Given the description of an element on the screen output the (x, y) to click on. 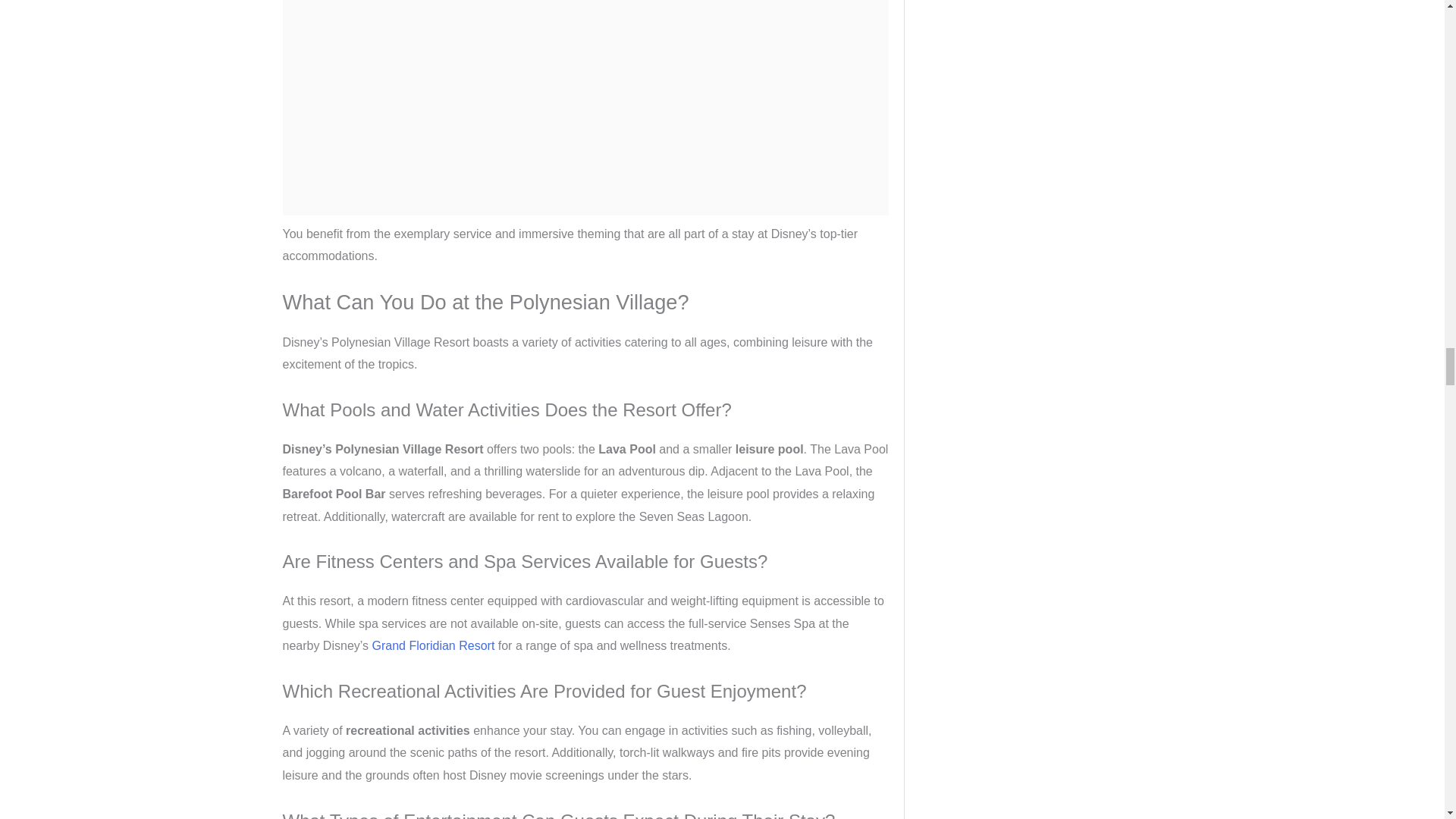
Grand Floridian Resort (433, 645)
Grand Floridian Resort (433, 645)
